Given the description of an element on the screen output the (x, y) to click on. 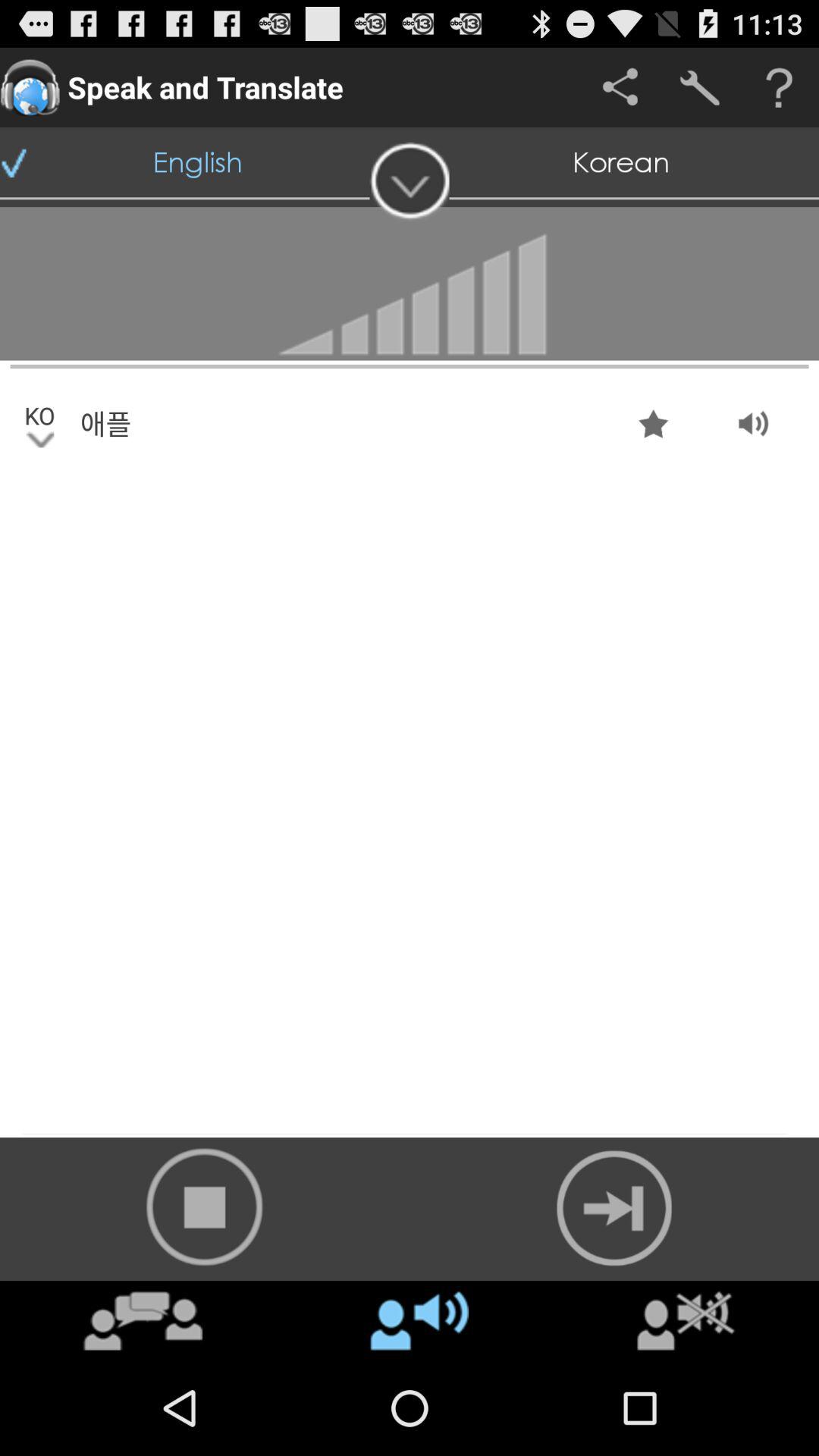
get help (779, 87)
